Given the description of an element on the screen output the (x, y) to click on. 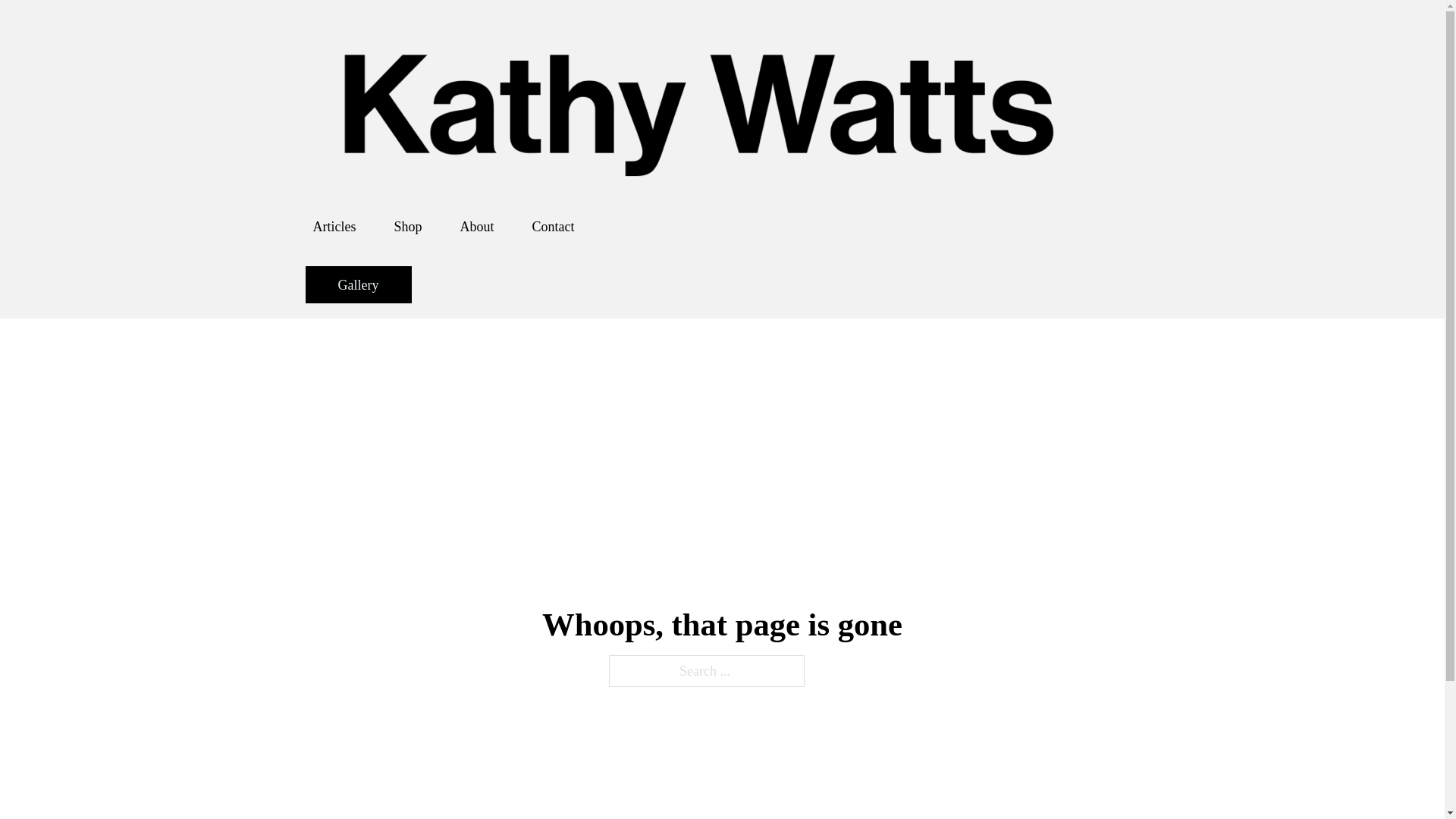
About (475, 226)
Contact (553, 226)
Shop (407, 226)
Gallery (357, 284)
Articles (333, 226)
